Given the description of an element on the screen output the (x, y) to click on. 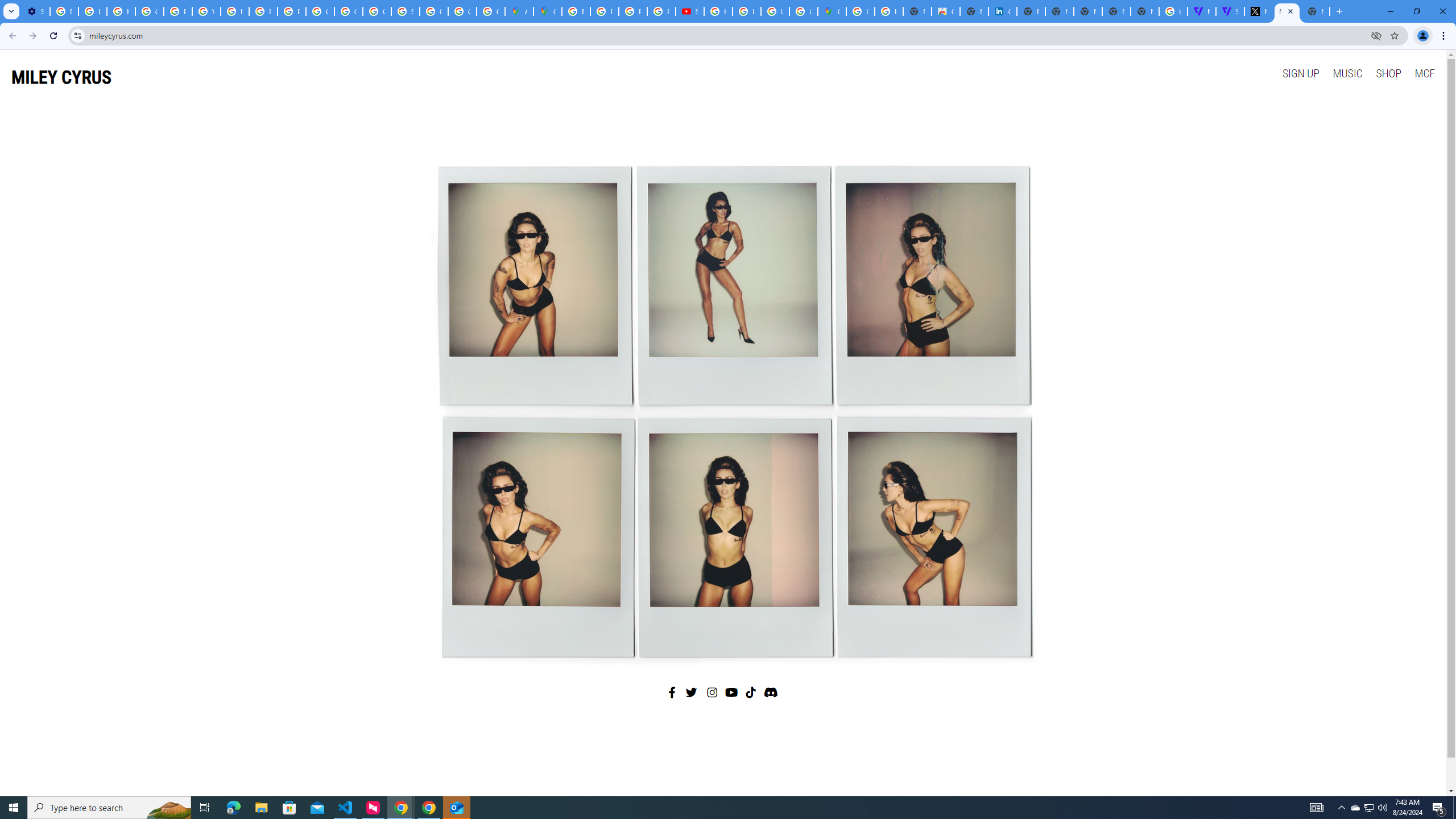
MILEY CYRUS (61, 77)
Delete photos & videos - Computer - Google Photos Help (63, 11)
